Given the description of an element on the screen output the (x, y) to click on. 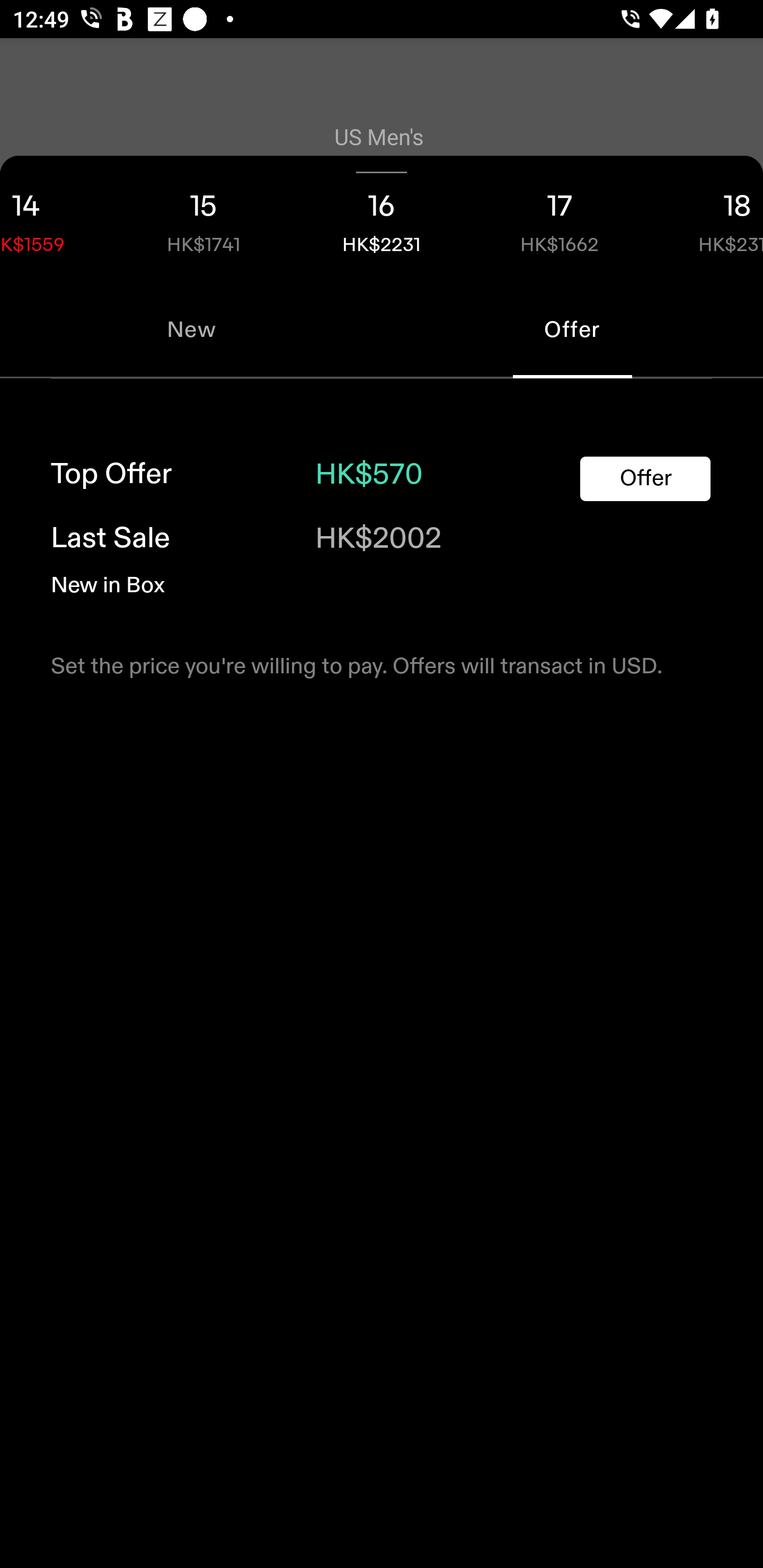
14 HK$1559 (57, 218)
15 HK$1741 (203, 218)
16 HK$2231 (381, 218)
17 HK$1662 (559, 218)
18 HK$2310 (705, 218)
New (190, 329)
Offer (644, 478)
